Given the description of an element on the screen output the (x, y) to click on. 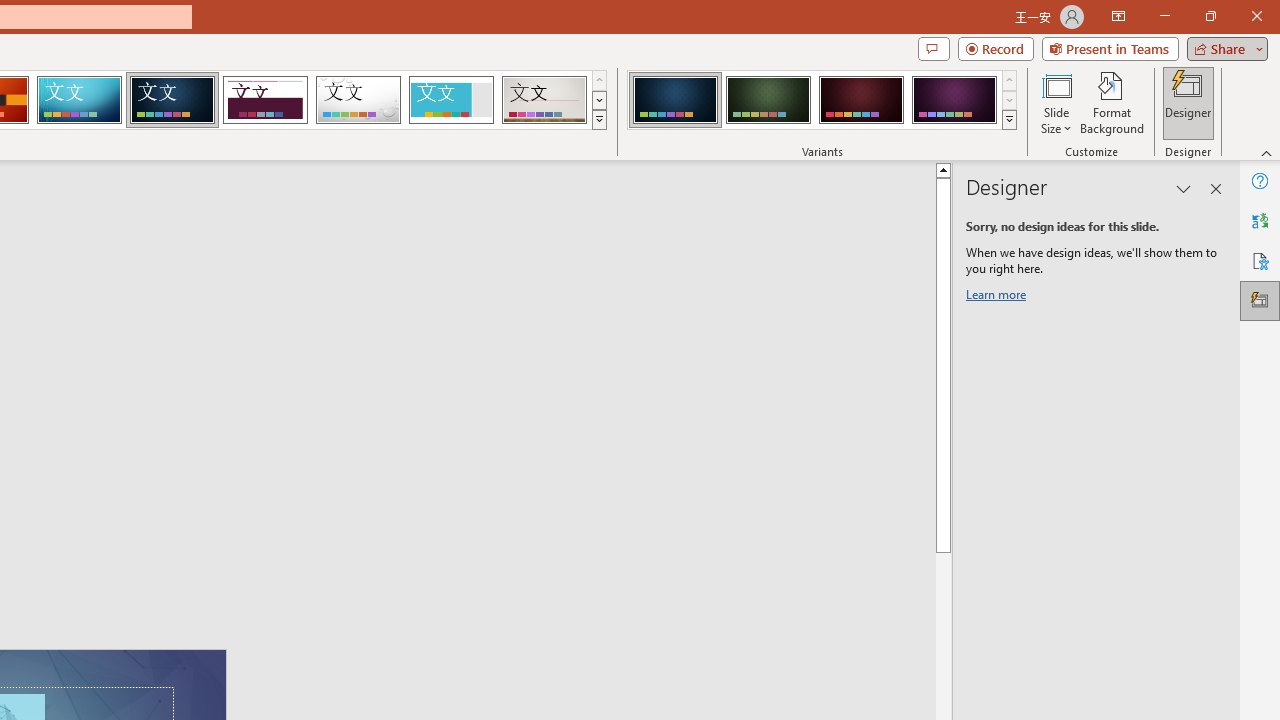
Damask Variant 4 (953, 100)
Gallery (544, 100)
Variants (1009, 120)
